Given the description of an element on the screen output the (x, y) to click on. 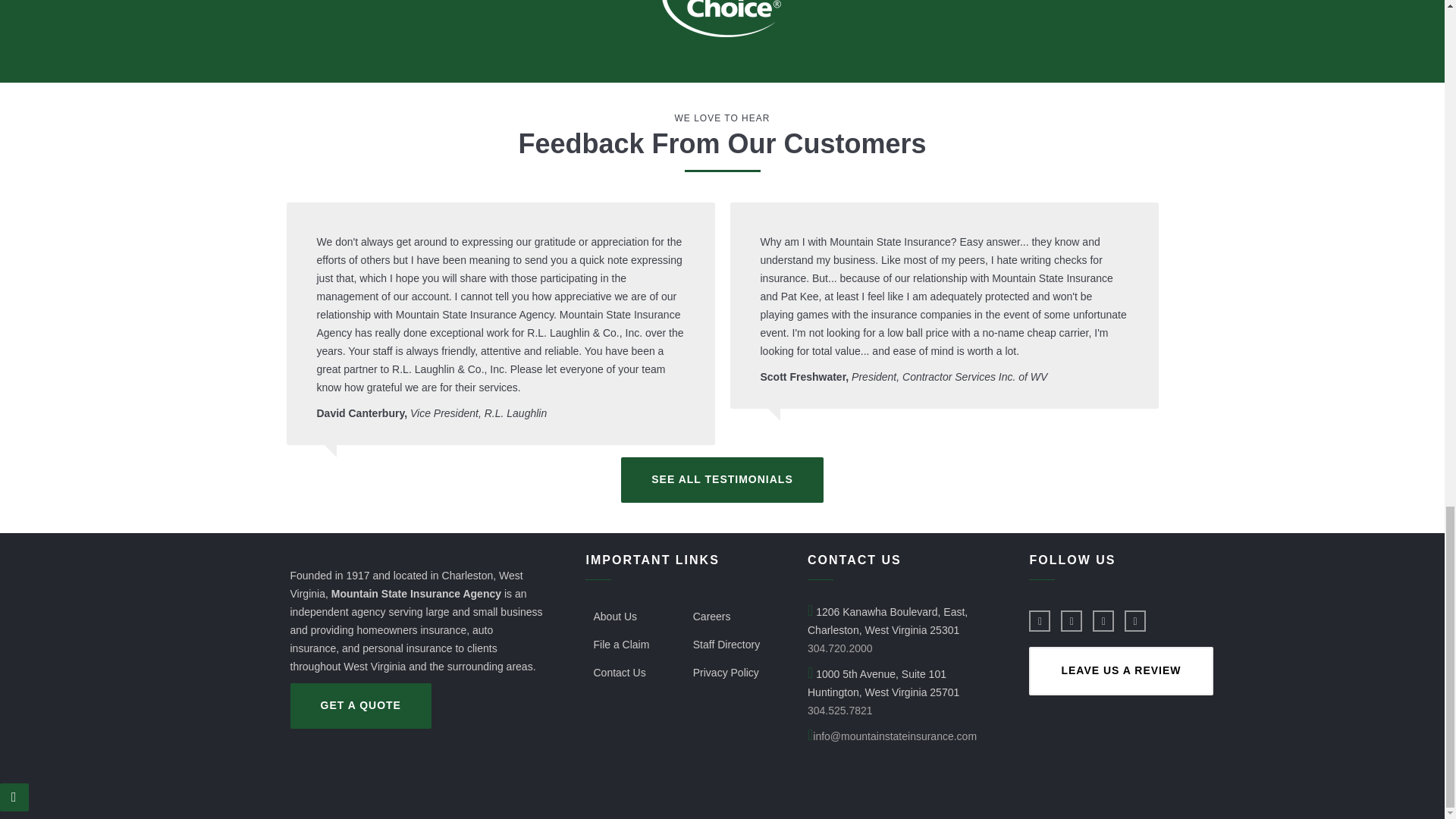
Back to Top (14, 797)
Trusted Choice (722, 18)
